Given the description of an element on the screen output the (x, y) to click on. 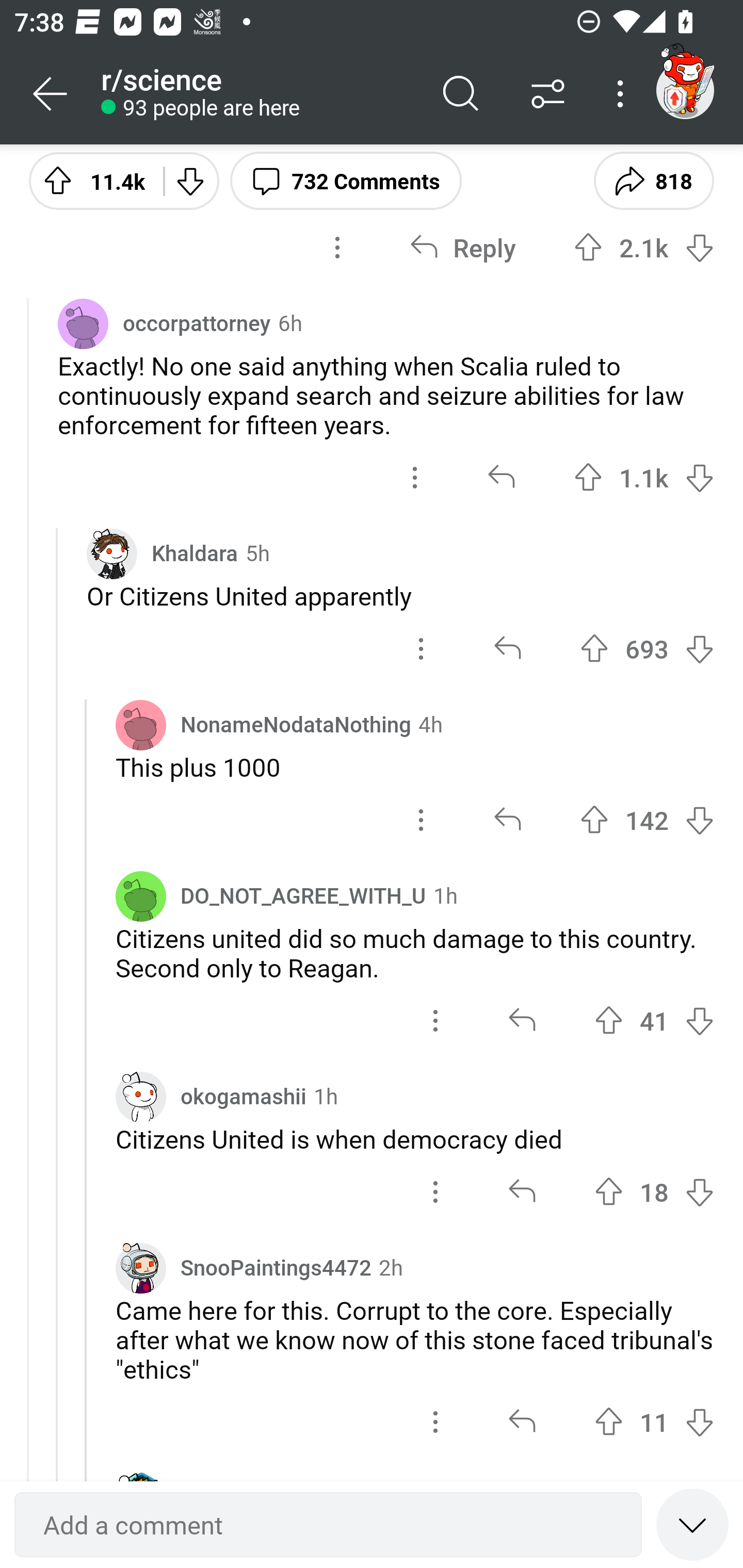
Back (50, 93)
TestAppium002 account (685, 90)
Search comments (460, 93)
Sort comments (547, 93)
More options (623, 93)
r/science 93 people are here (259, 93)
Upvote 11.4k (88, 180)
Downvote (189, 180)
732 Comments (346, 180)
Share 818 (653, 180)
options (337, 247)
Reply (462, 247)
Upvote 2.1k 2096 votes Downvote (643, 247)
Avatar (82, 322)
options (414, 478)
Upvote 1.1k 1058 votes Downvote (643, 478)
Custom avatar (111, 553)
Or Citizens United apparently (400, 595)
options (420, 649)
Upvote 693 693 votes Downvote (647, 649)
Avatar (140, 724)
This plus 1000 (414, 766)
options (420, 820)
Upvote 142 142 votes Downvote (647, 820)
Avatar (140, 896)
options (435, 1020)
Upvote 41 41 votes Downvote (654, 1020)
Custom avatar (140, 1096)
Citizens United is when democracy died (414, 1138)
options (435, 1191)
Upvote 18 18 votes Downvote (654, 1191)
Custom avatar (140, 1268)
options (435, 1422)
Upvote 11 11 votes Downvote (654, 1422)
Speed read (692, 1524)
Add a comment (327, 1524)
